Given the description of an element on the screen output the (x, y) to click on. 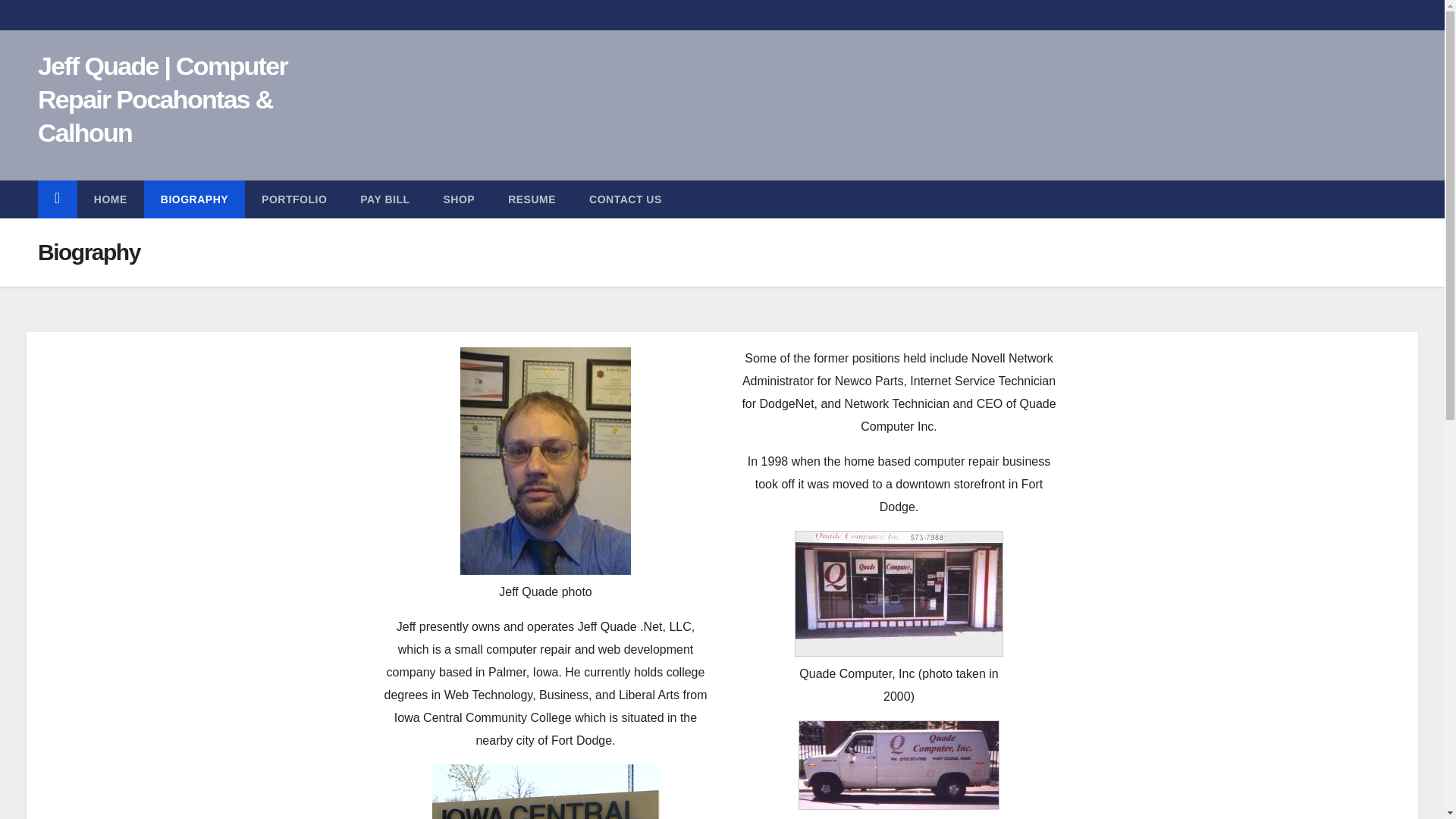
CONTACT US (625, 199)
PAY BILL (384, 199)
PORTFOLIO (293, 199)
Biography (194, 199)
Portfolio (293, 199)
HOME (110, 199)
Shop (459, 199)
Resume (532, 199)
SHOP (459, 199)
Contact Us (625, 199)
